Given the description of an element on the screen output the (x, y) to click on. 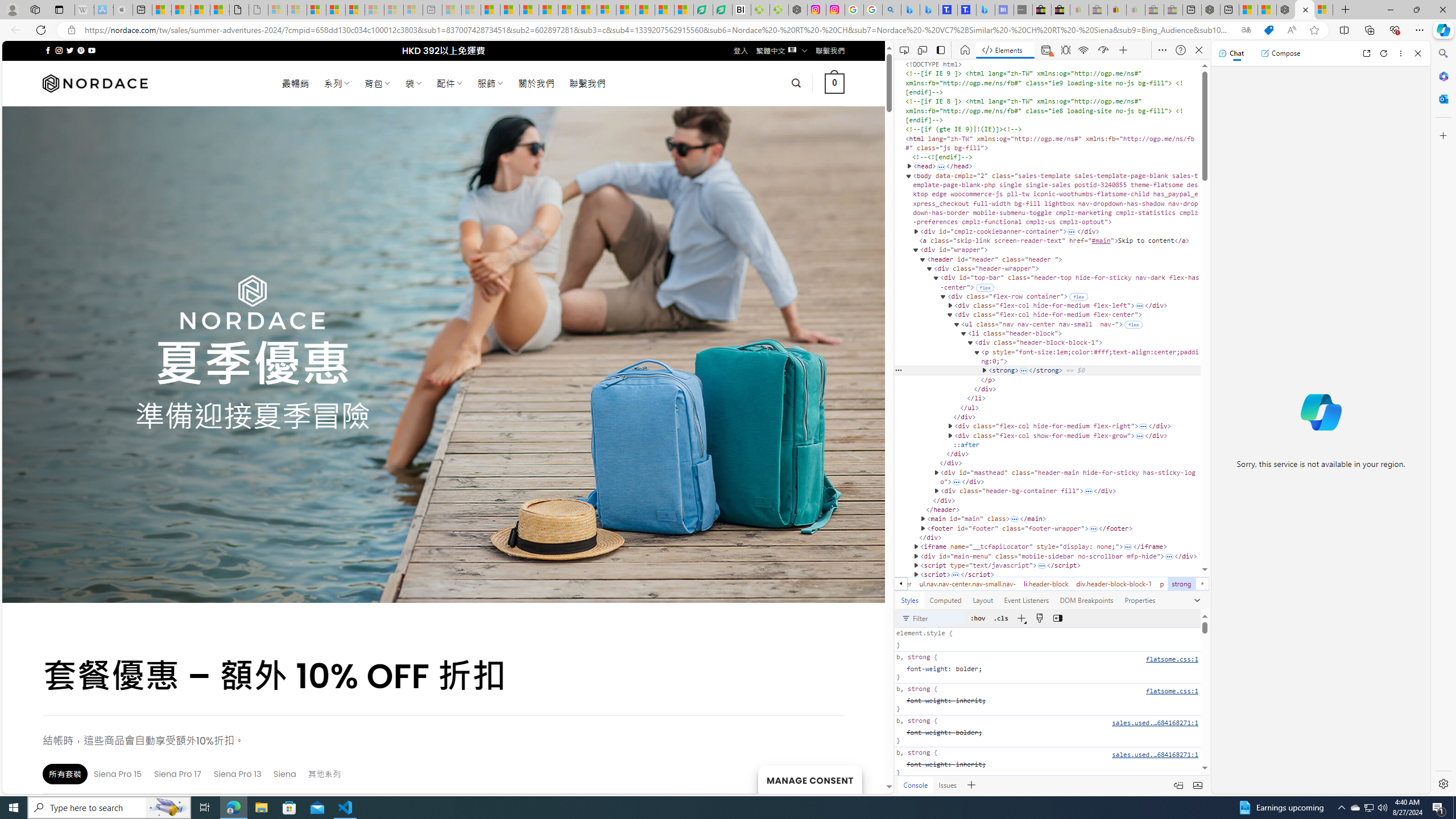
Foo BAR | Trusted Community Engagement and Contributions (586, 9)
Compose (1280, 52)
Sign in to your Microsoft account - Sleeping (277, 9)
Show Computed Styles sidebar (1057, 617)
New Tab (1346, 9)
More options (1401, 53)
MANAGE CONSENT (809, 779)
alabama high school quarterback dies - Search (891, 9)
#main (1101, 239)
Back (13, 29)
ul.nav.nav-center.nav-small.nav- (967, 583)
Descarga Driver Updater (778, 9)
